Given the description of an element on the screen output the (x, y) to click on. 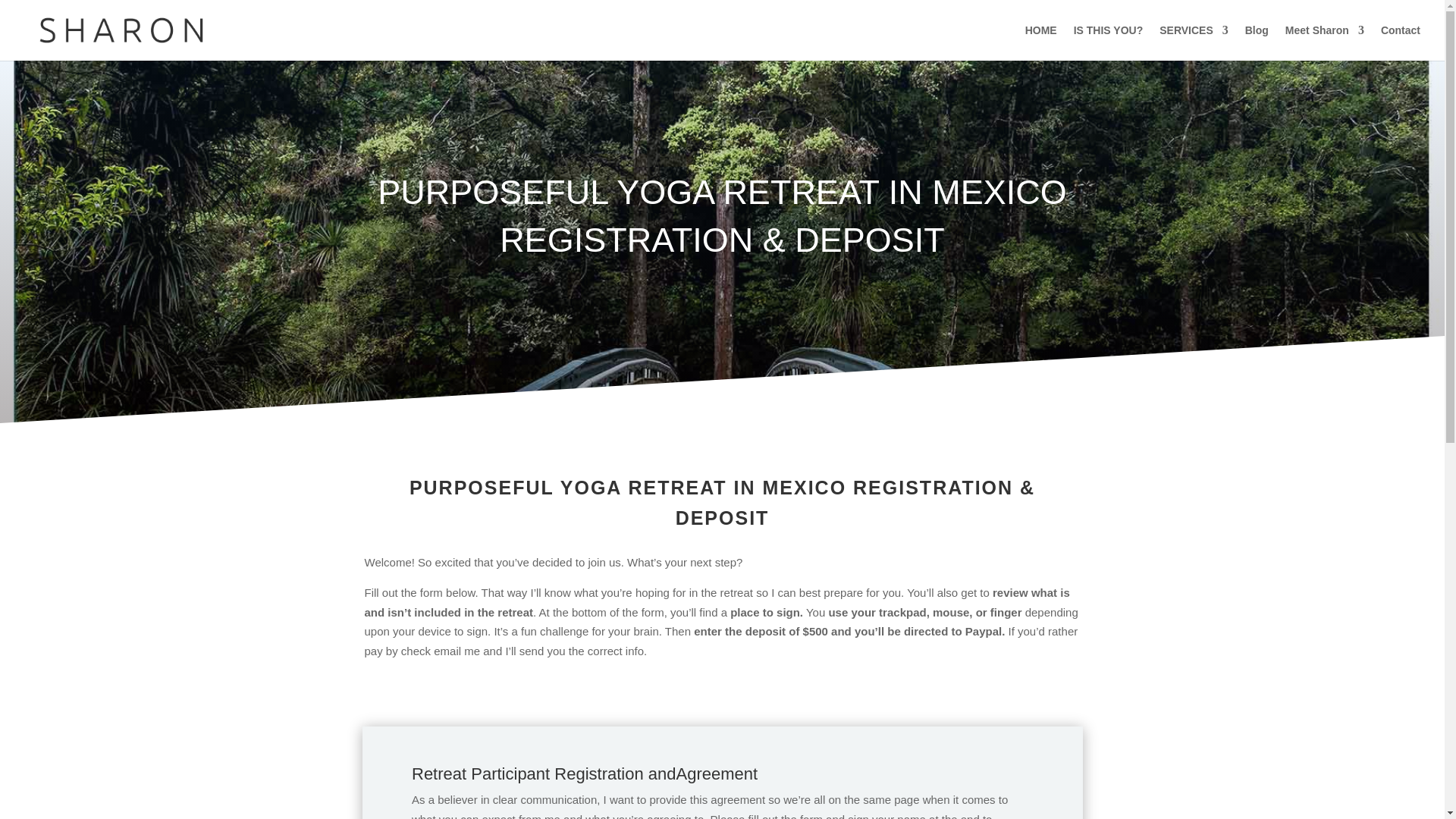
SERVICES (1193, 42)
HOME (1041, 42)
IS THIS YOU? (1108, 42)
Meet Sharon (1324, 42)
Contact (1400, 42)
